Given the description of an element on the screen output the (x, y) to click on. 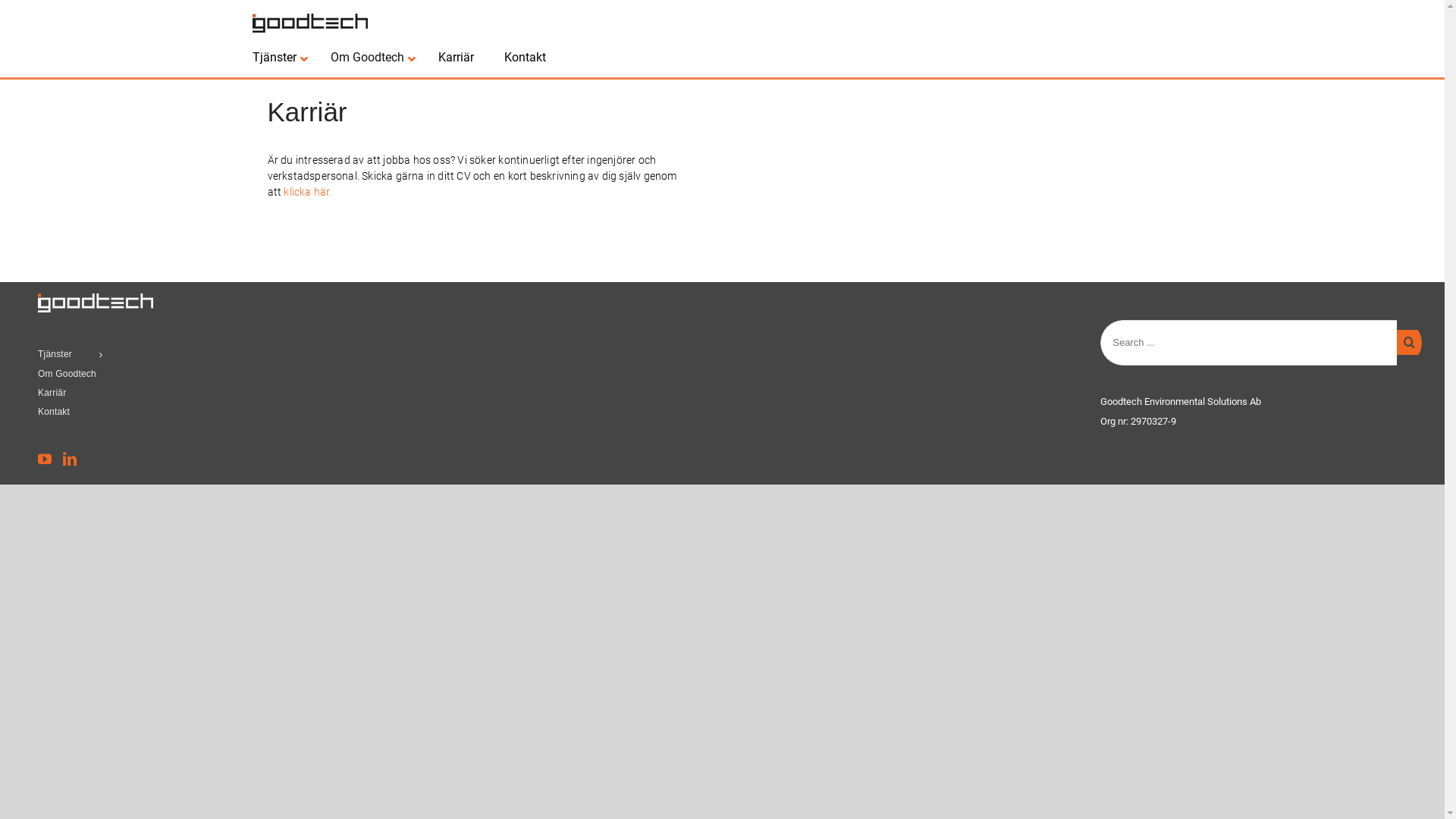
Kontakt Element type: text (182, 411)
YouTube Element type: hover (44, 458)
Om Goodtech Element type: text (182, 373)
LinkedIn Element type: hover (69, 458)
Kontakt Element type: text (524, 57)
Om Goodtech Element type: text (369, 57)
